Given the description of an element on the screen output the (x, y) to click on. 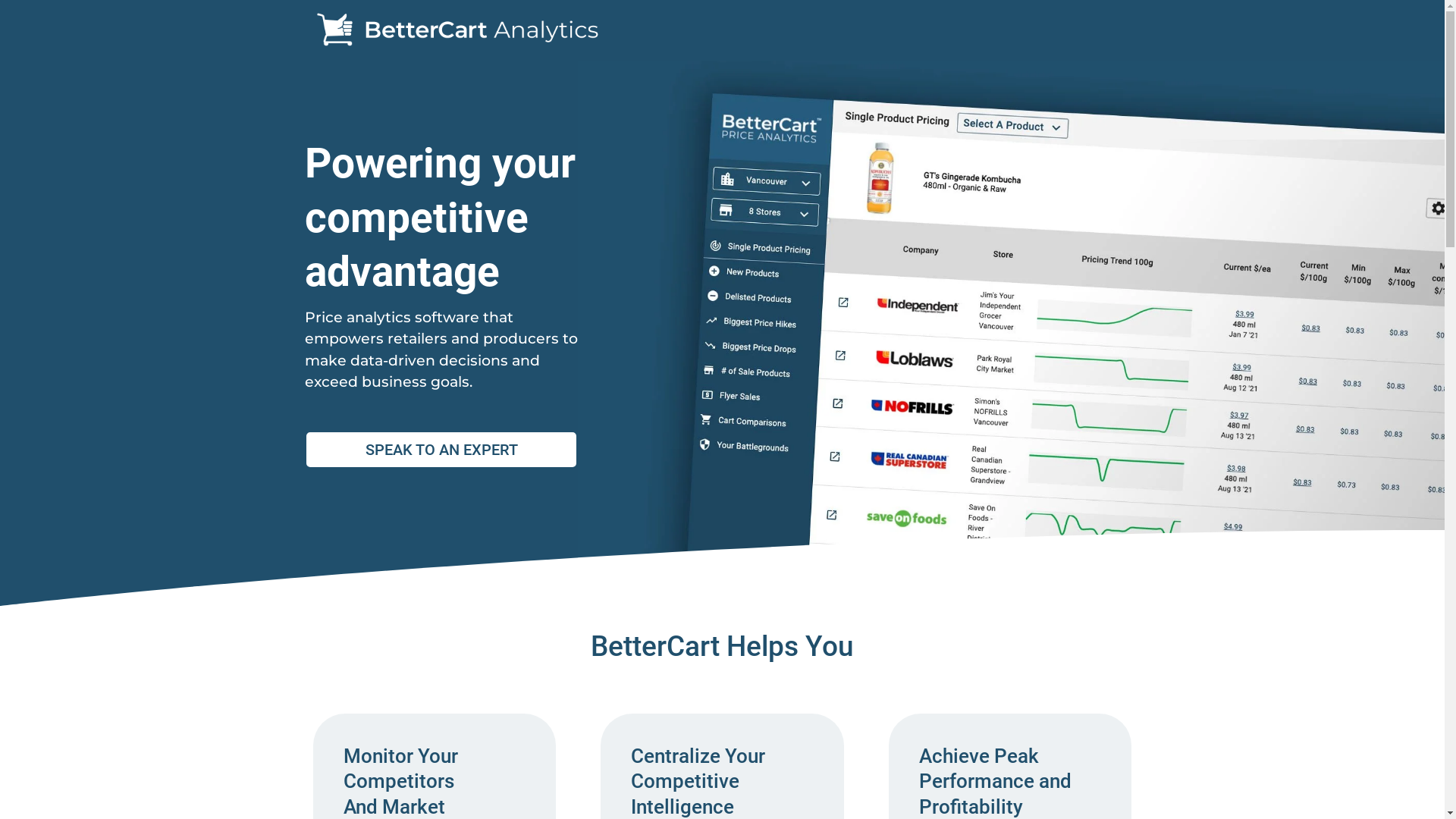
SPEAK TO AN EXPERT Element type: text (440, 449)
